Given the description of an element on the screen output the (x, y) to click on. 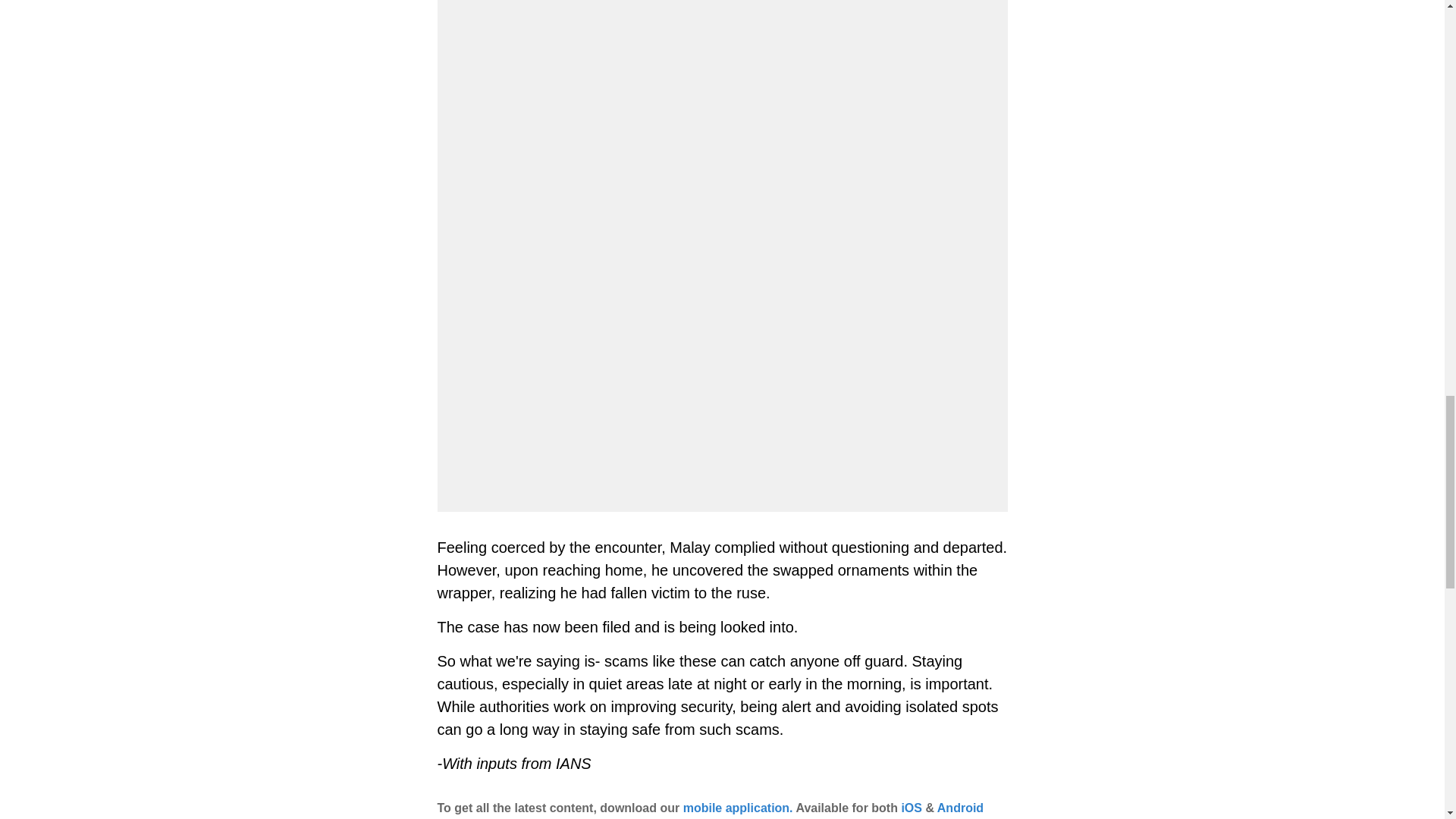
mobile application. (737, 807)
Android (960, 807)
iOS (911, 807)
